Given the description of an element on the screen output the (x, y) to click on. 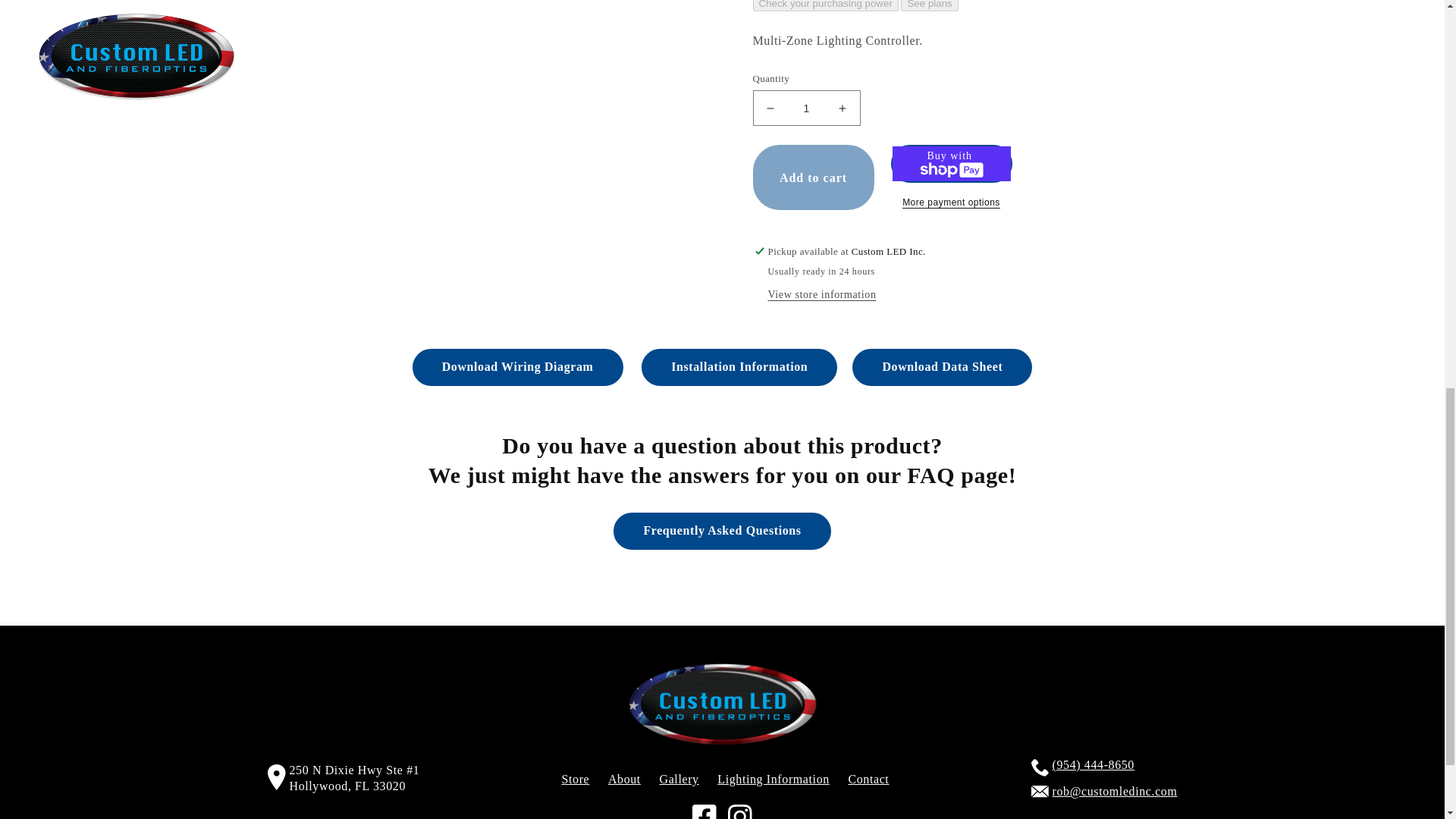
1 (806, 96)
